Given the description of an element on the screen output the (x, y) to click on. 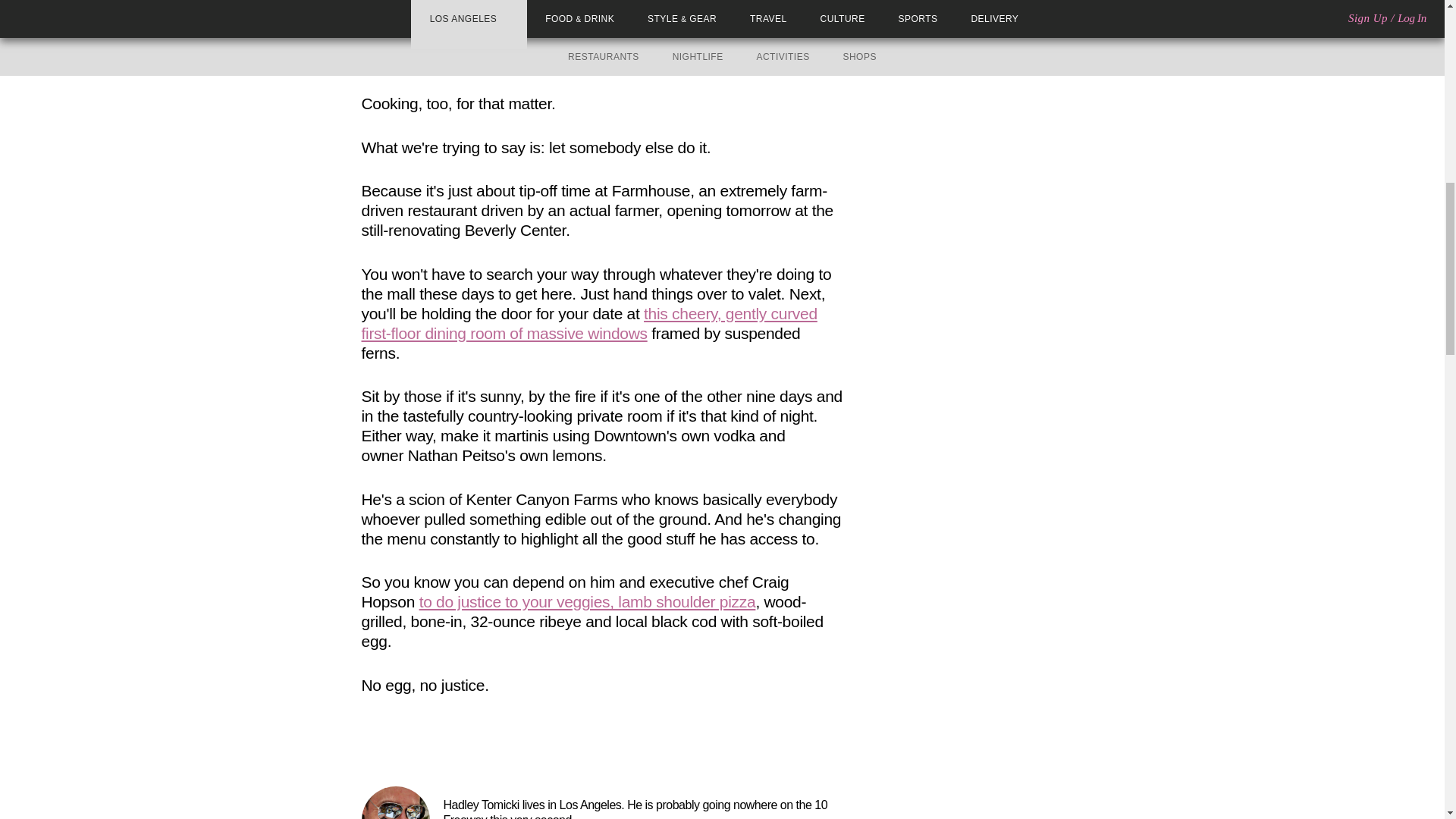
Pinterest (414, 745)
to do justice to your veggies, lamb shoulder pizza (587, 601)
Save (437, 745)
